Given the description of an element on the screen output the (x, y) to click on. 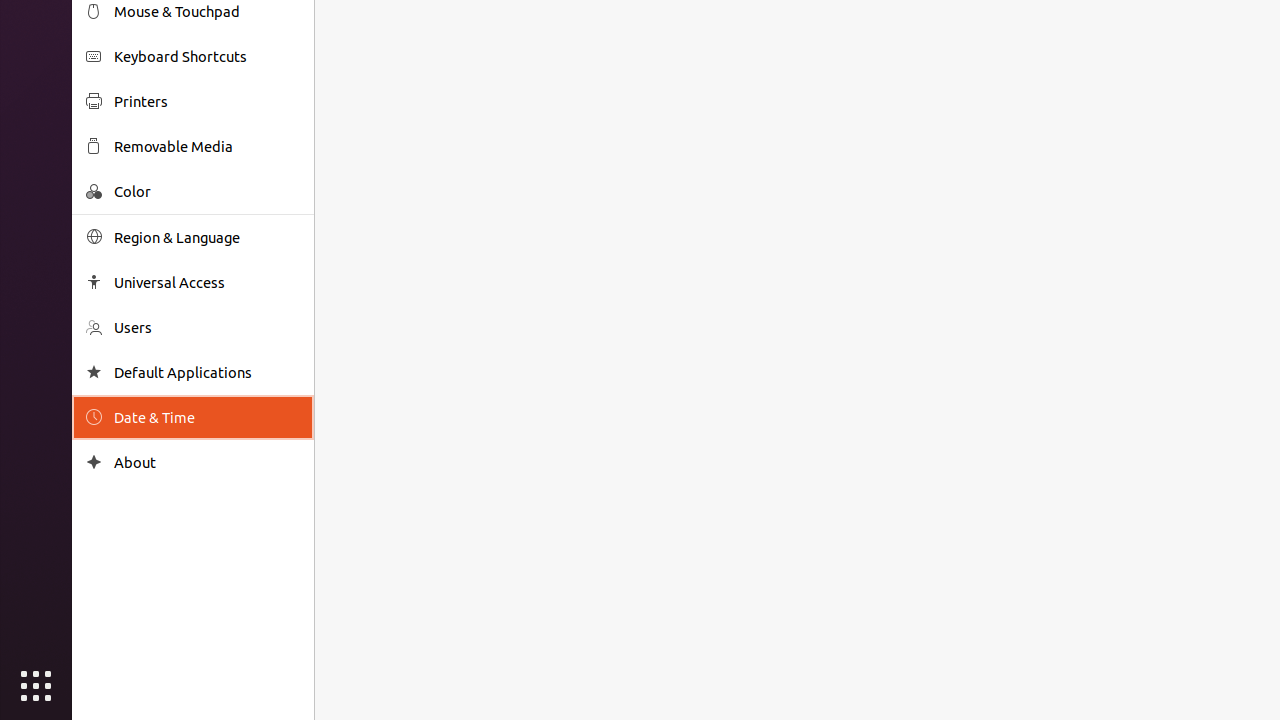
Removable Media Element type: label (207, 146)
Default Applications Element type: label (207, 372)
Universal Access Element type: label (207, 282)
Region & Language Element type: label (207, 237)
Keyboard Shortcuts Element type: label (207, 56)
